Given the description of an element on the screen output the (x, y) to click on. 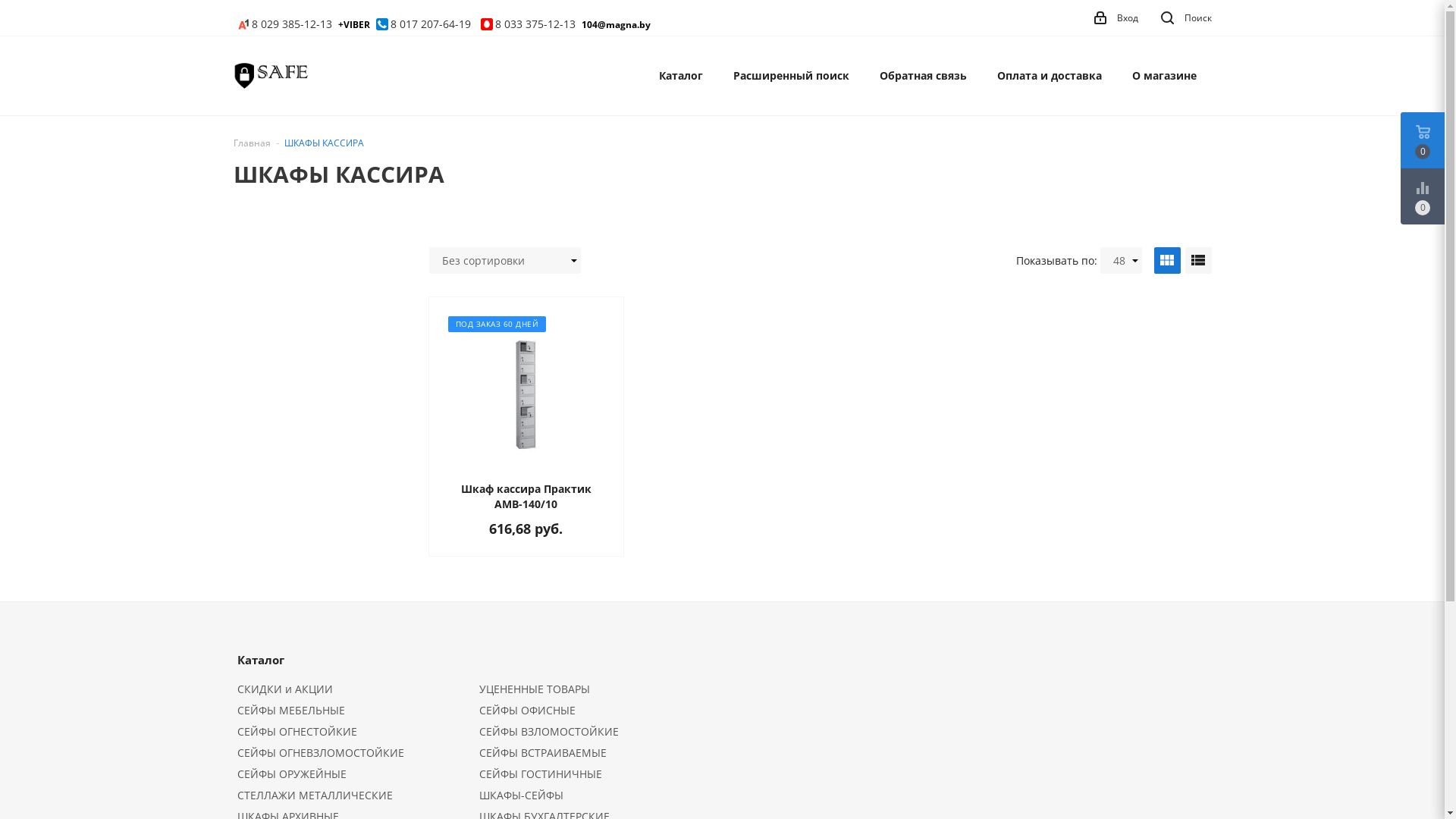
8 029 385-12-13 Element type: text (284, 24)
view_module Element type: text (1167, 260)
view_list Element type: text (1197, 260)
48 Element type: text (1120, 260)
8 033 375-12-13 Element type: text (527, 24)
+VIBER Element type: text (352, 24)
8 017 207-64-19 Element type: text (422, 24)
104@magna.by Element type: text (614, 24)
